Given the description of an element on the screen output the (x, y) to click on. 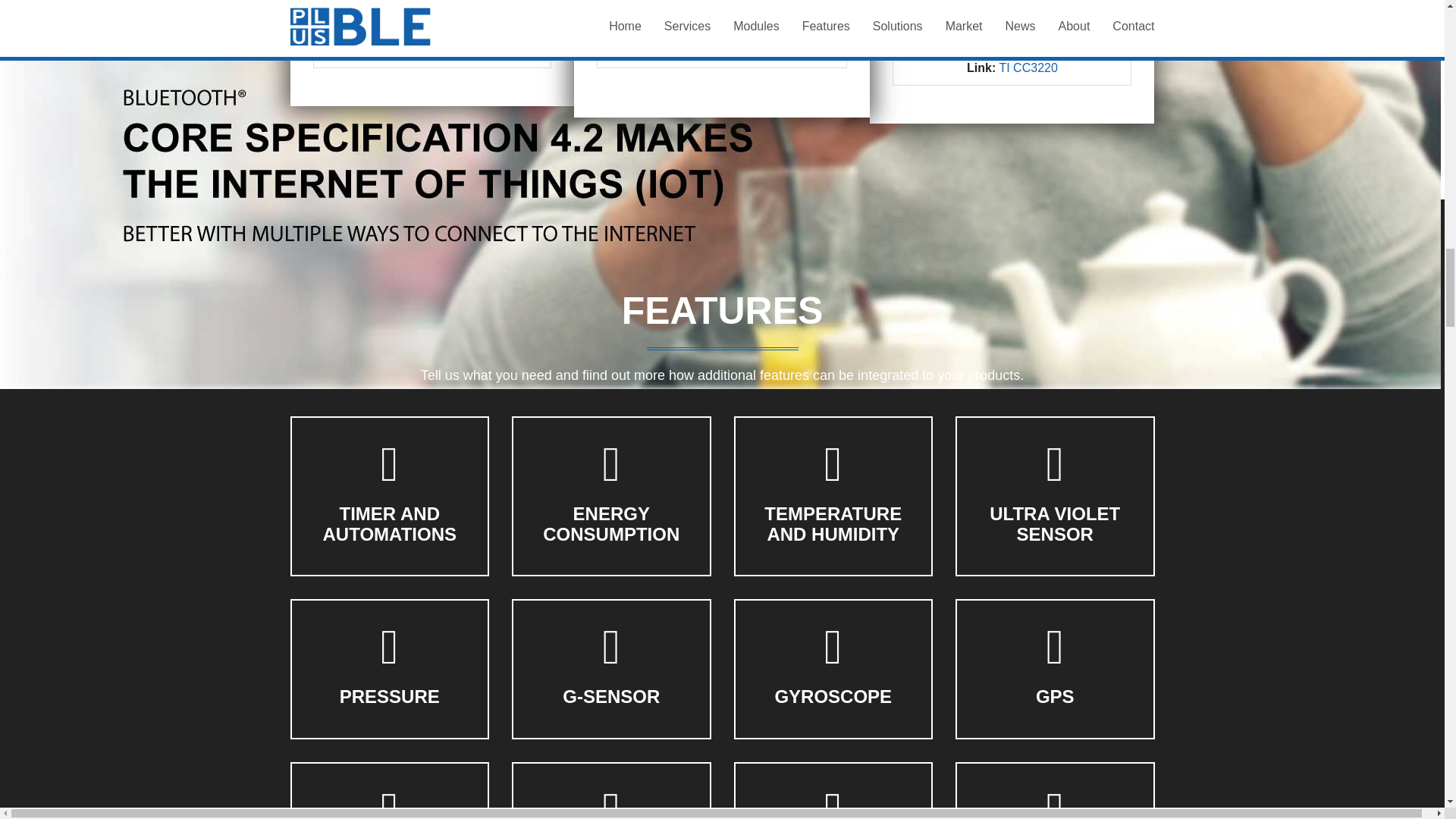
TI CC3220 (1027, 67)
TI CC2640R2 (738, 51)
TI CC2541 (448, 51)
